Given the description of an element on the screen output the (x, y) to click on. 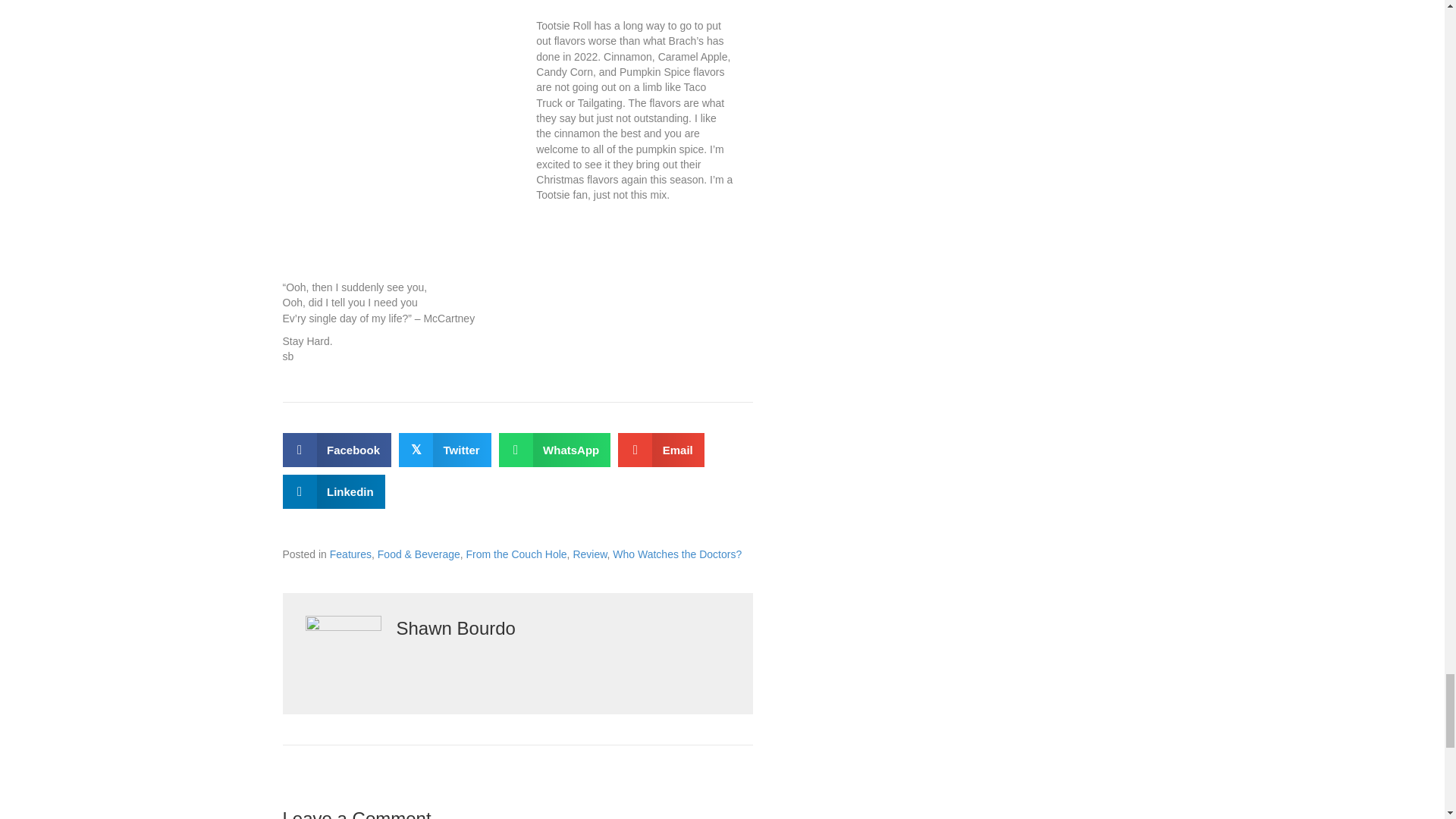
Review (589, 553)
Email (660, 449)
Features (350, 553)
Facebook (336, 449)
Linkedin (333, 491)
Who Watches the Doctors? (676, 553)
WhatsApp (555, 449)
From the Couch Hole (516, 553)
